Given the description of an element on the screen output the (x, y) to click on. 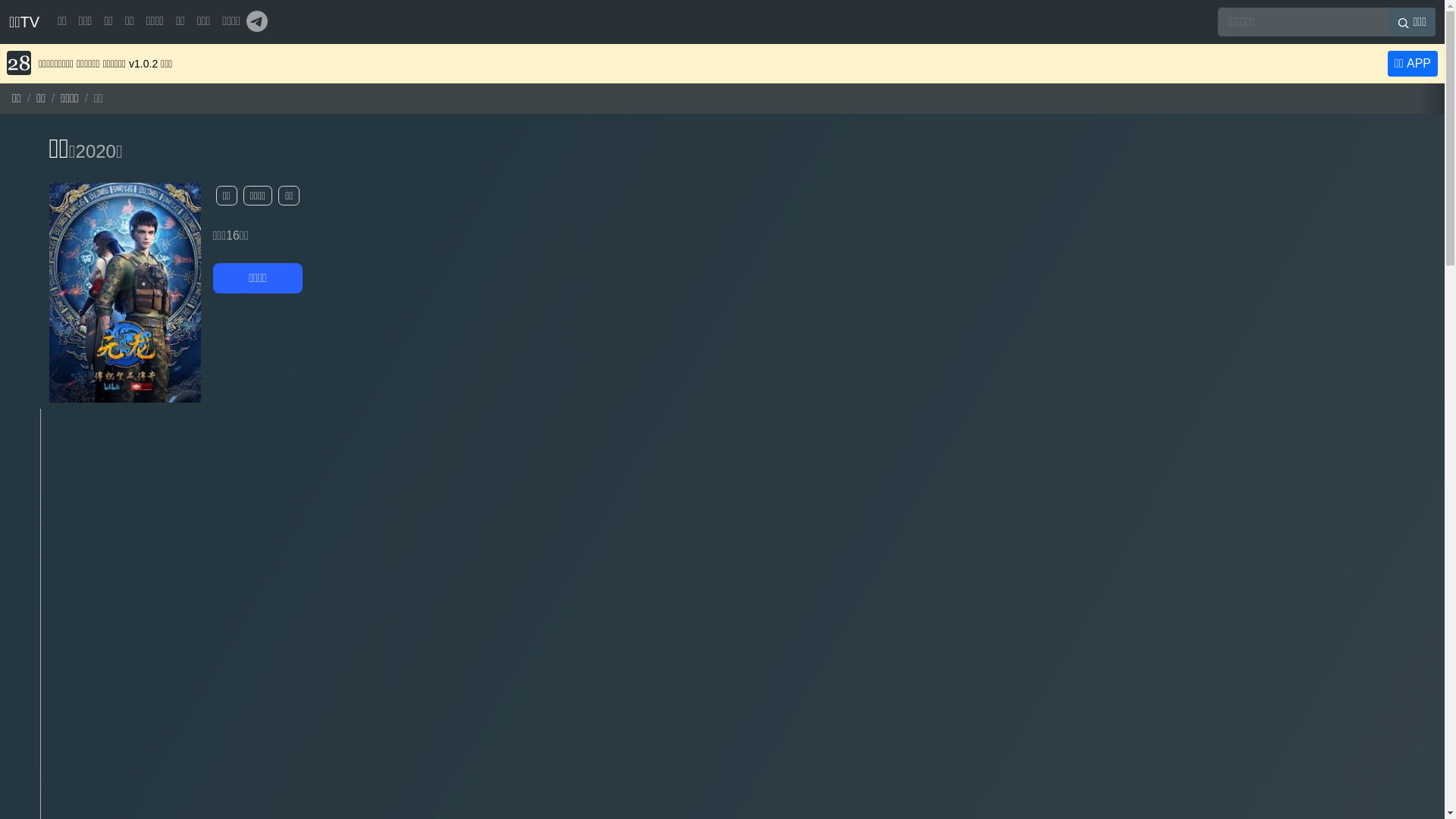
2020 Element type: text (95, 151)
